Given the description of an element on the screen output the (x, y) to click on. 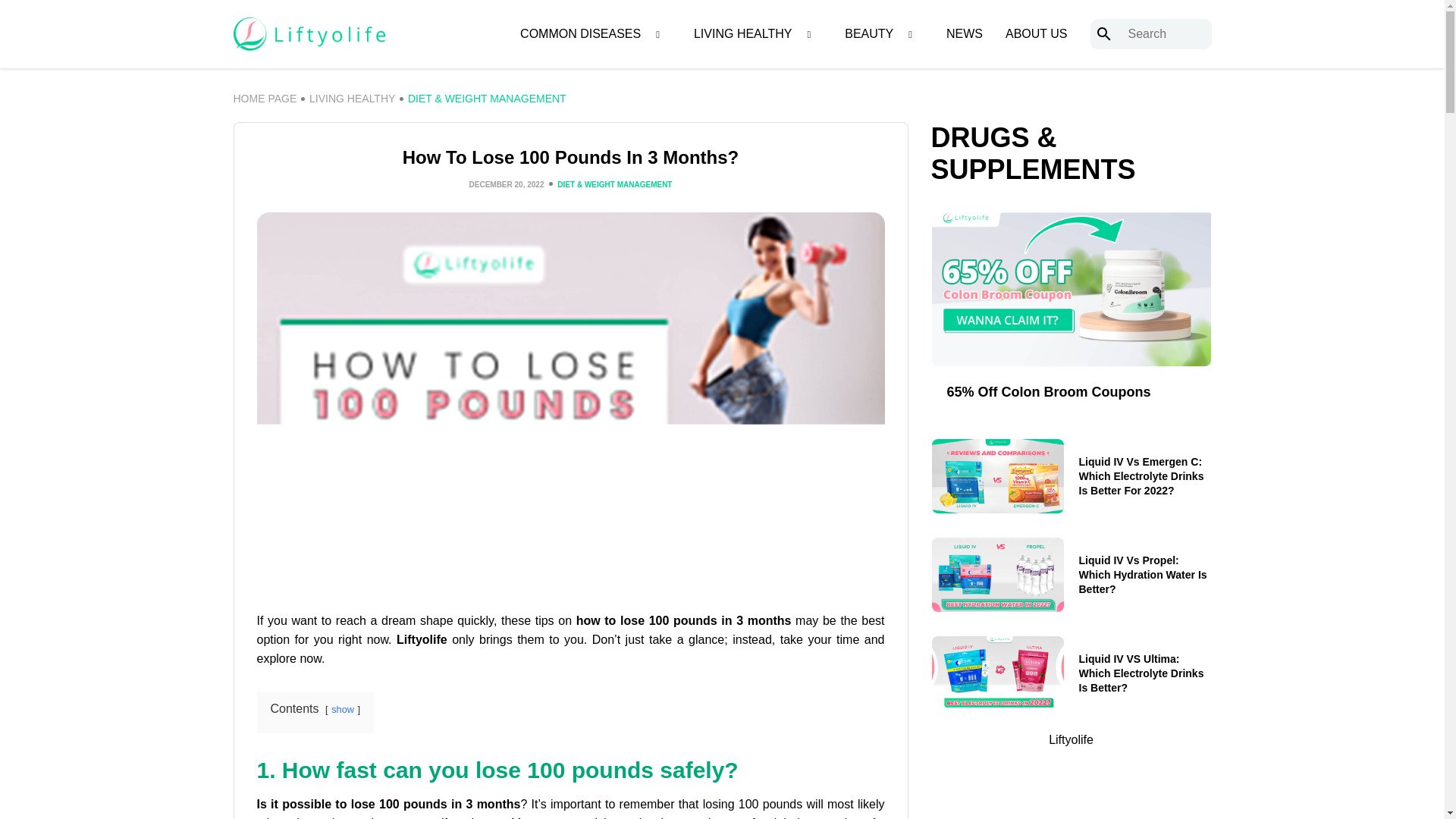
show (342, 708)
NEWS (964, 33)
LIVING HEALTHY (351, 98)
HOME PAGE (264, 98)
COMMON DISEASES (579, 33)
BEAUTY (868, 33)
LIVING HEALTHY (743, 33)
ABOUT US (1036, 33)
